Given the description of an element on the screen output the (x, y) to click on. 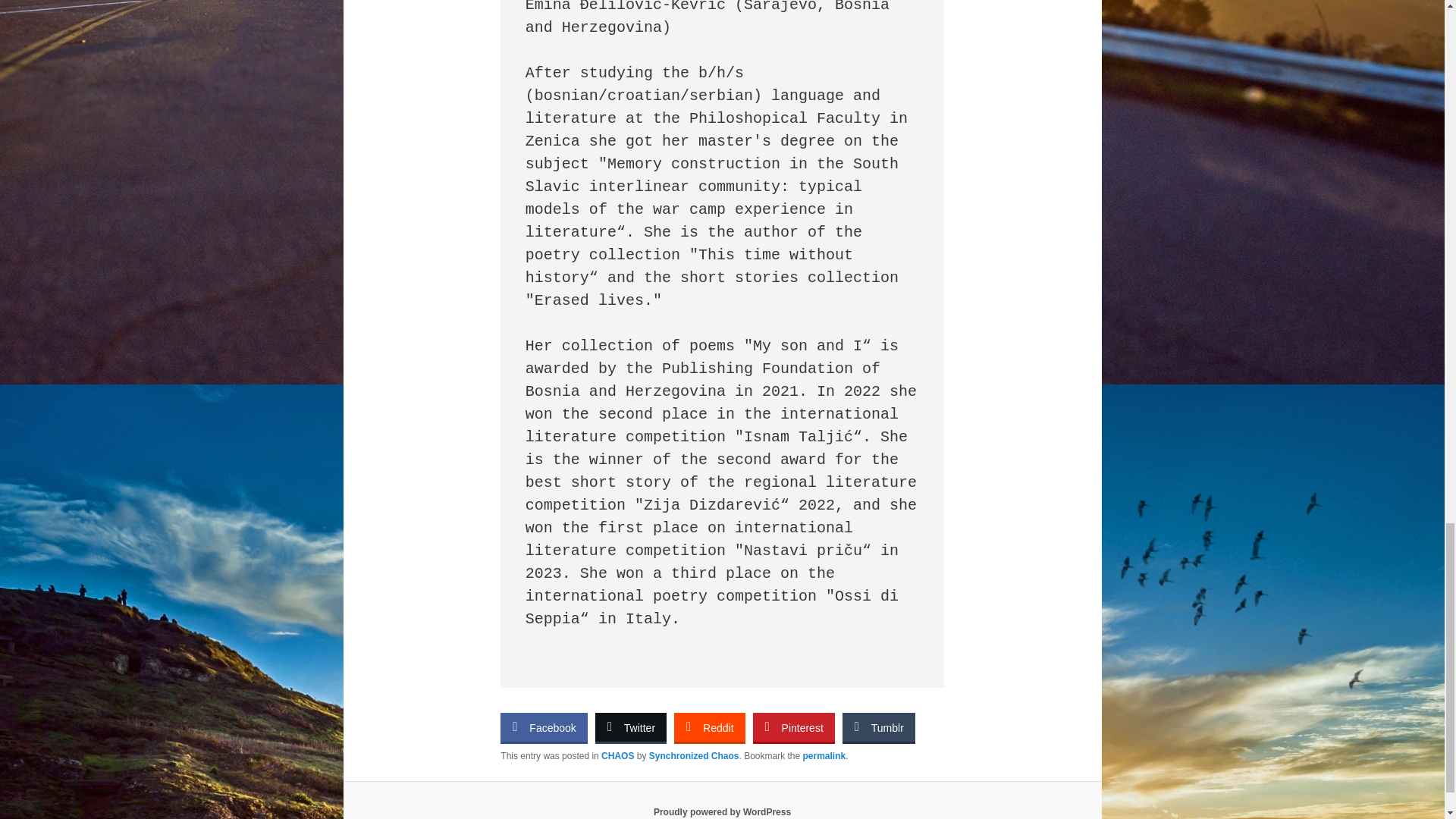
Tumblr (879, 727)
Semantic Personal Publishing Platform (721, 811)
Pinterest (793, 727)
CHAOS (617, 756)
Reddit (709, 727)
Proudly powered by WordPress (721, 811)
Twitter (630, 727)
permalink (824, 756)
Synchronized Chaos (694, 756)
Permalink to Poetry from Emina Delilovic-Kevric (824, 756)
